Given the description of an element on the screen output the (x, y) to click on. 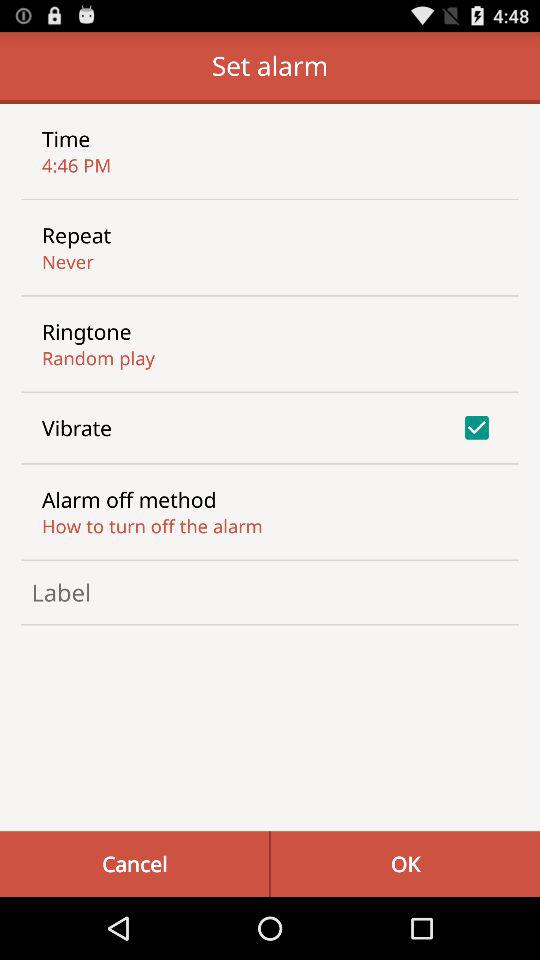
press the icon above the vibrate app (98, 357)
